Given the description of an element on the screen output the (x, y) to click on. 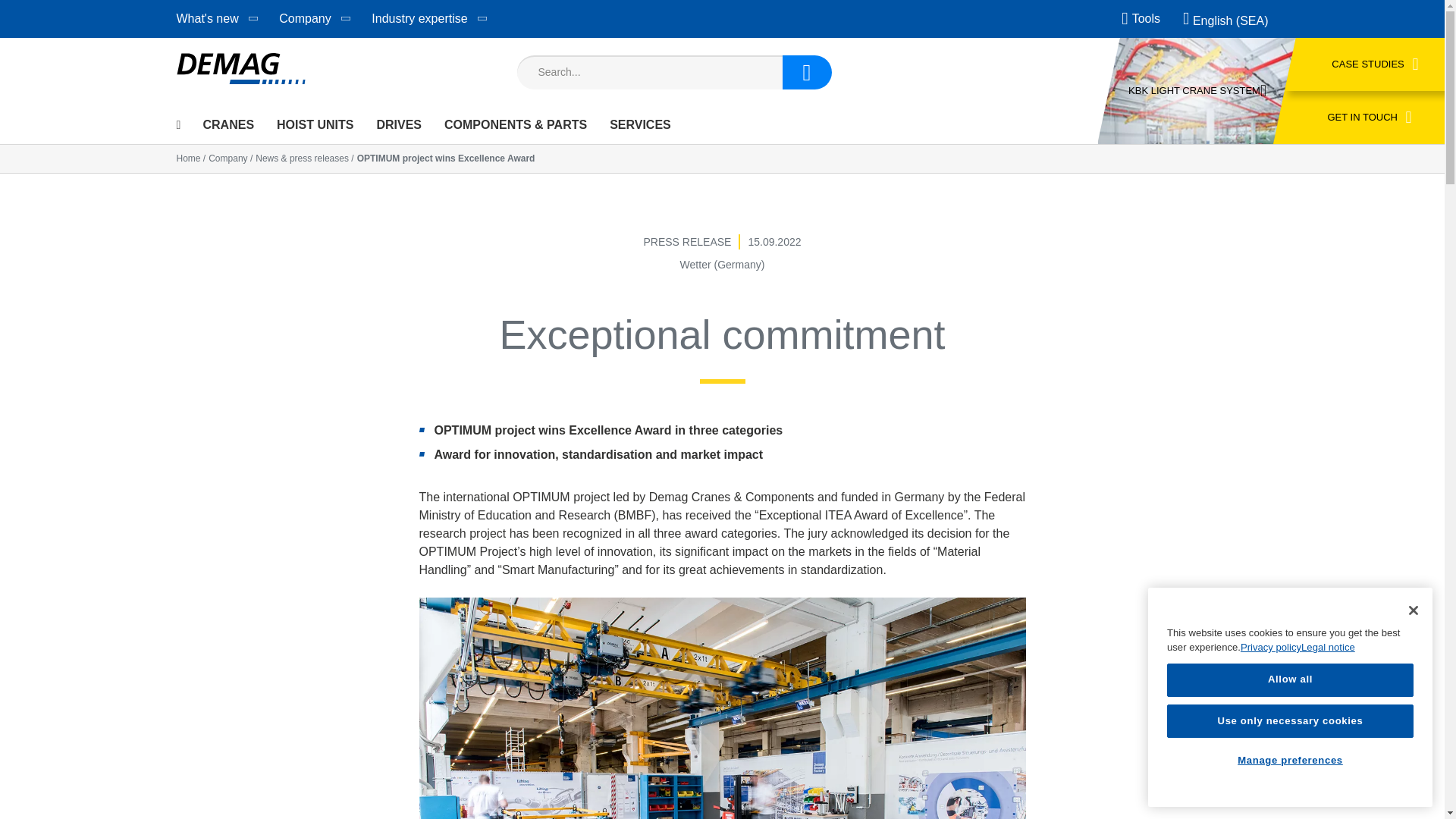
Search (807, 71)
What's new (206, 18)
Company (304, 18)
Demag (240, 71)
Industry expertise (419, 18)
